Given the description of an element on the screen output the (x, y) to click on. 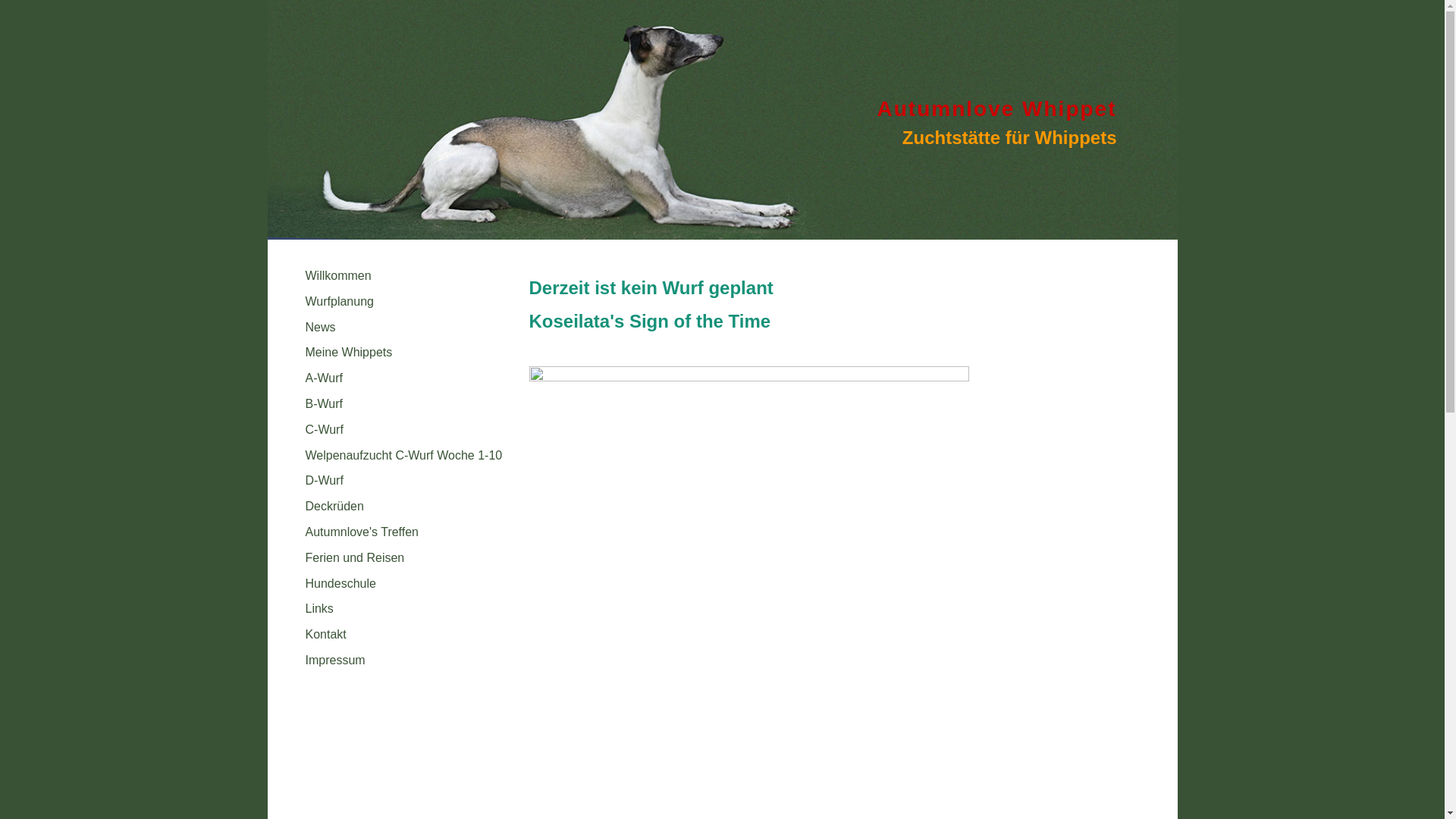
B-Wurf Element type: text (323, 403)
Links Element type: text (318, 608)
C-Wurf Element type: text (323, 429)
Impressum Element type: text (334, 659)
Welpenaufzucht C-Wurf Woche 1-10 Element type: text (403, 454)
News Element type: text (319, 326)
Hundeschule  Element type: text (341, 583)
D-Wurf Element type: text (323, 479)
A-Wurf Element type: text (323, 377)
Meine Whippets Element type: text (348, 351)
Willkommen Element type: text (337, 275)
Ferien und Reisen Element type: text (354, 557)
Kontakt Element type: text (324, 633)
Autumnlove's Treffen  Element type: text (362, 531)
Wurfplanung  Element type: text (340, 300)
